Given the description of an element on the screen output the (x, y) to click on. 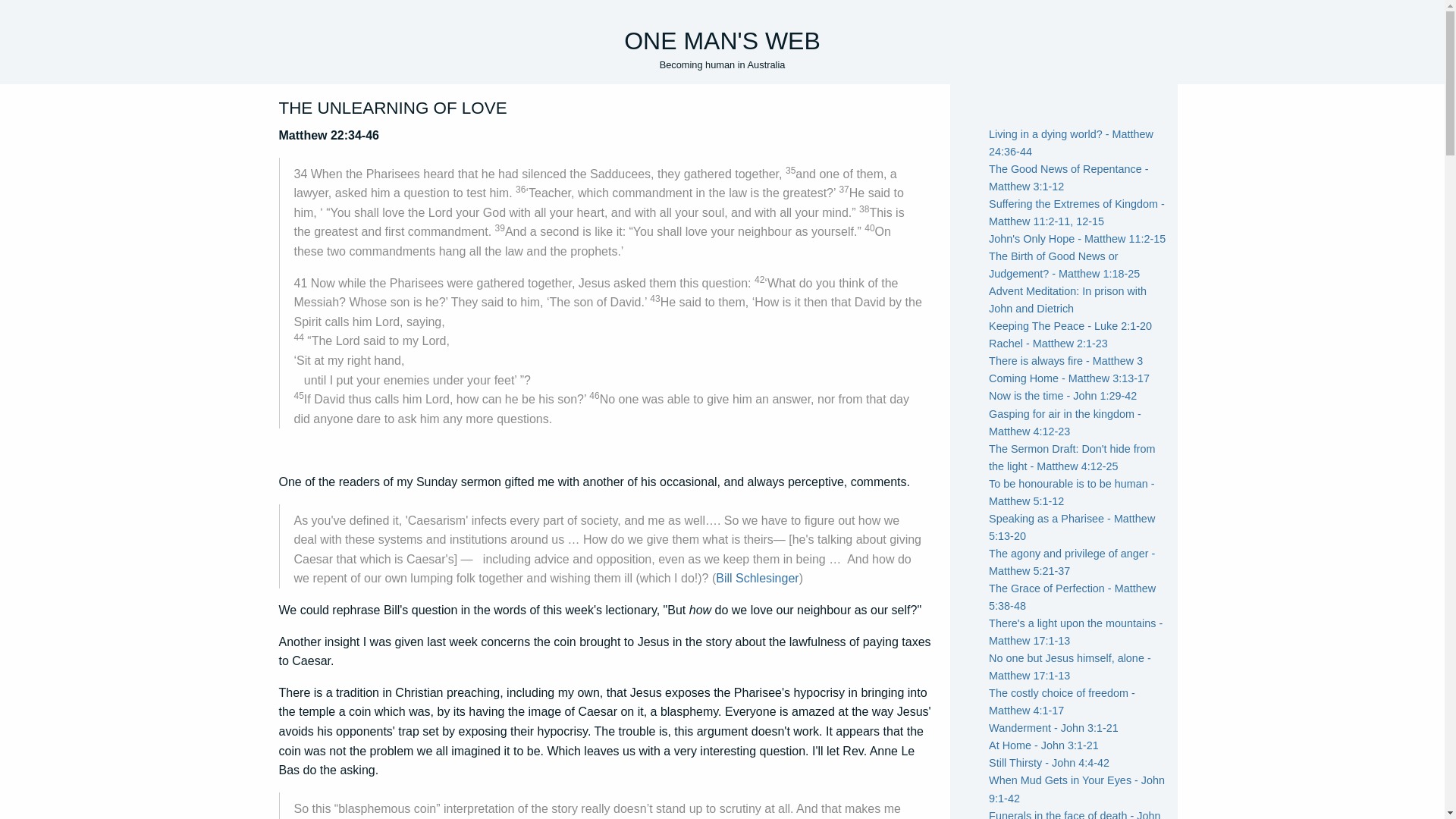
The agony and privilege of anger - Matthew 5:21-37 (1071, 562)
Advent Meditation: In prison with John and Dietrich (1067, 299)
Suffering the Extremes of Kingdom - Matthew 11:2-11, 12-15 (1076, 212)
The Birth of Good News or Judgement? - Matthew 1:18-25 (1064, 265)
home (722, 40)
There is always fire - Matthew 3 (1065, 360)
The Good News of Repentance - Matthew 3:1-12 (1068, 177)
Speaking as a Pharisee - Matthew 5:13-20 (1071, 527)
Rachel - Matthew 2:1-23 (1048, 343)
John's Only Hope - Matthew 11:2-15 (1077, 238)
Keeping The Peace - Luke 2:1-20 (1069, 326)
Living in a dying world? - Matthew 24:36-44 (1070, 142)
Now is the time - John 1:29-42 (1062, 395)
ONE MAN'S WEB (722, 40)
